Given the description of an element on the screen output the (x, y) to click on. 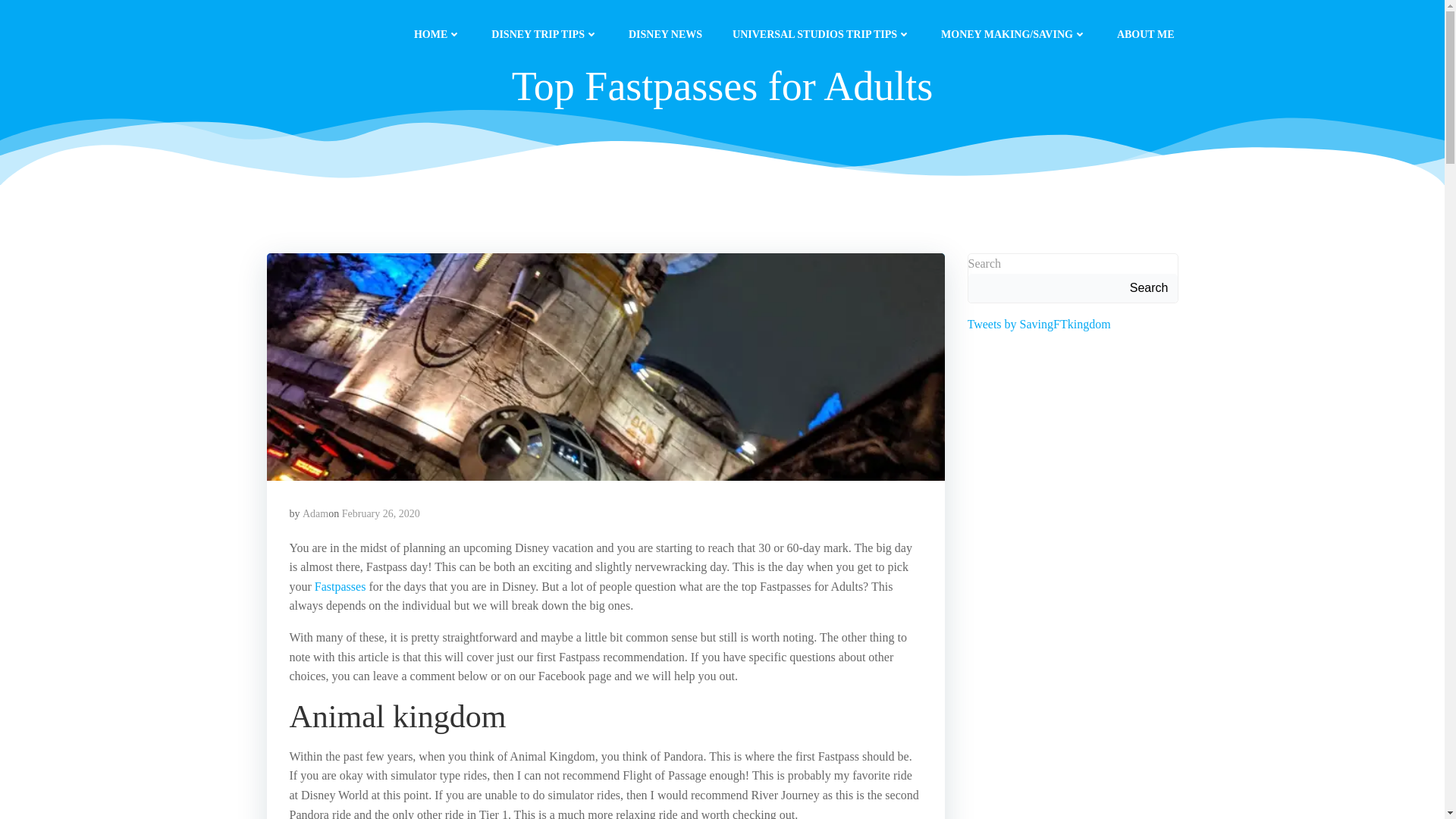
UNIVERSAL STUDIOS TRIP TIPS (821, 33)
DISNEY NEWS (664, 33)
ABOUT ME (1145, 33)
HOME (437, 33)
DISNEY TRIP TIPS (545, 33)
